Given the description of an element on the screen output the (x, y) to click on. 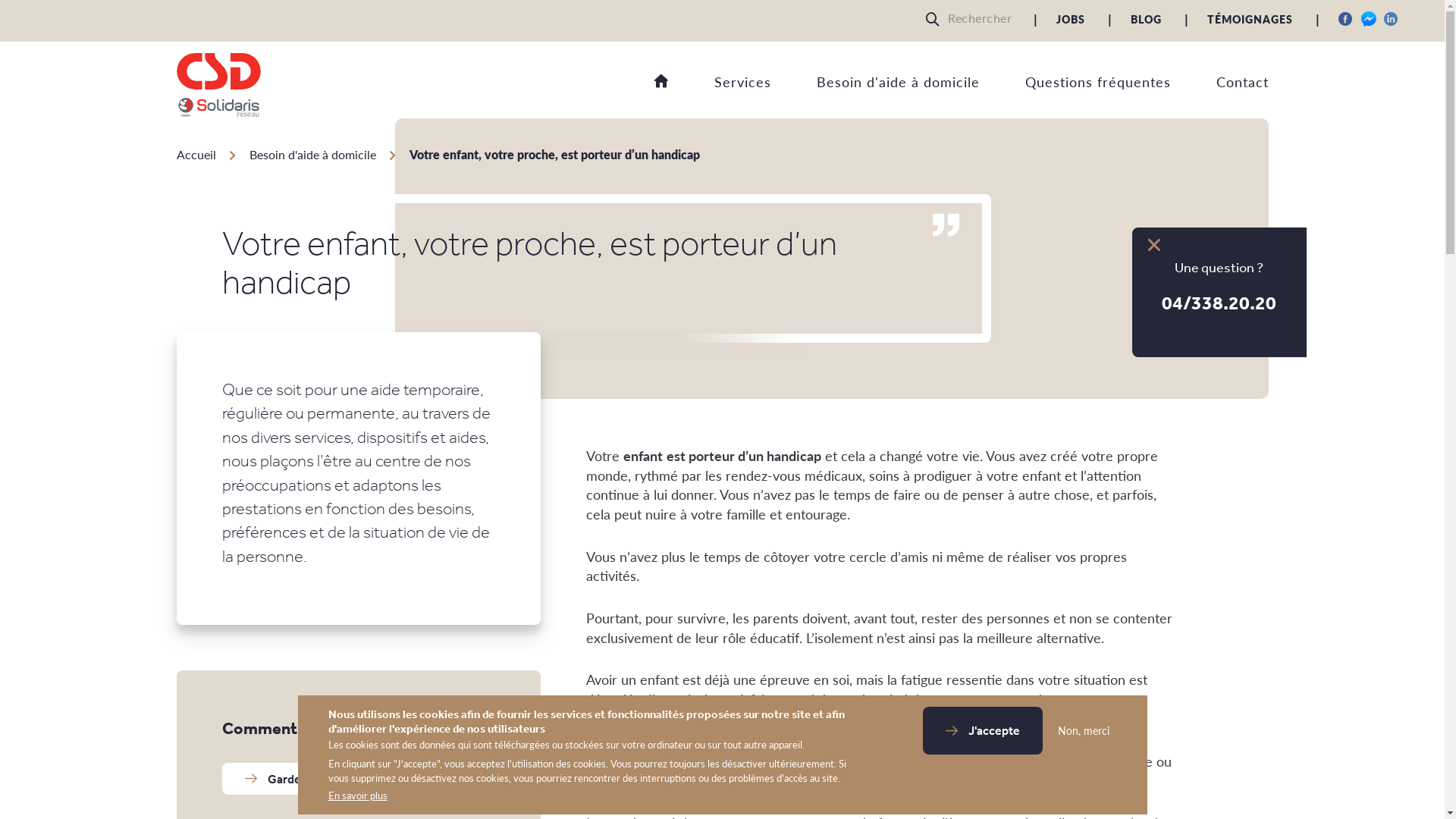
Messenger Element type: text (1368, 18)
En savoir plus Element type: text (356, 796)
Accueil Element type: text (660, 81)
Facebook Element type: text (1345, 18)
04/338.20.20 Element type: text (1218, 301)
LinkedIn Element type: text (1391, 18)
J'accepte Element type: text (981, 730)
Apply Element type: text (936, 18)
Contact Element type: text (1219, 85)
JOBS Element type: text (1070, 18)
Accueil Element type: text (195, 154)
BLOG Element type: text (1145, 18)
Non, merci Element type: text (1078, 730)
Services Element type: text (719, 85)
Aller au contenu principal Element type: text (0, 121)
